Given the description of an element on the screen output the (x, y) to click on. 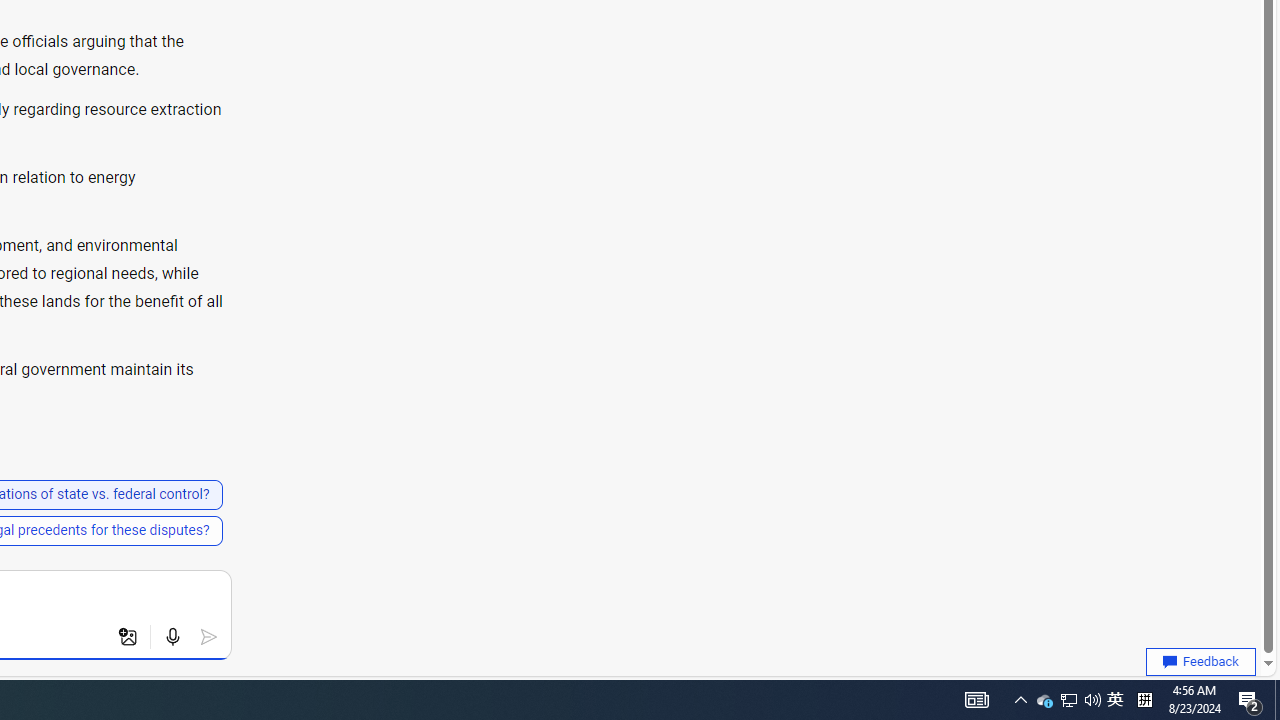
Add an image to search (127, 637)
Use microphone (172, 637)
Submit (208, 637)
